Given the description of an element on the screen output the (x, y) to click on. 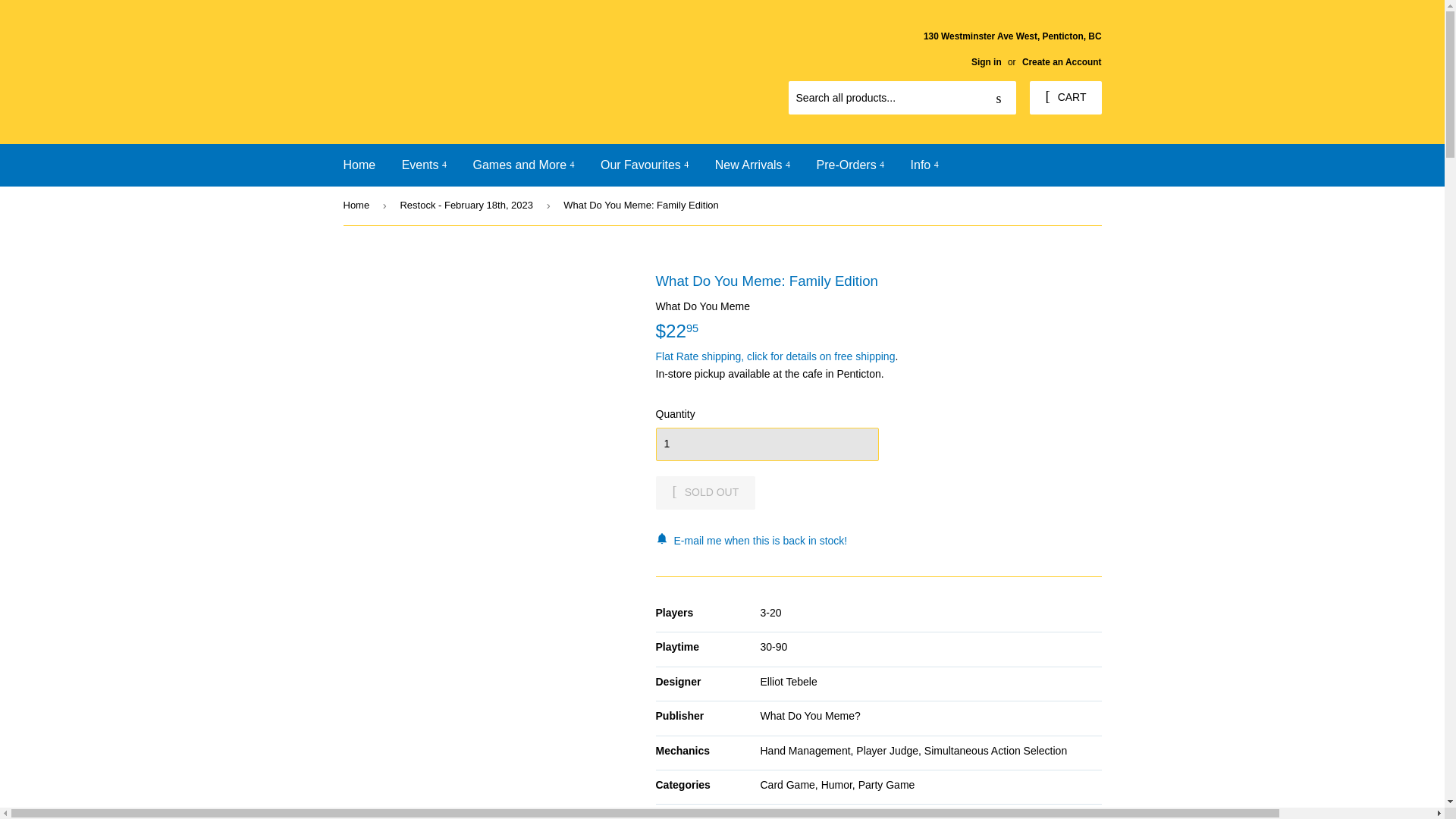
Search (998, 98)
Sign in (986, 61)
1 (766, 444)
Create an Account (1062, 61)
CART (1064, 97)
130 Westminster Ave West, Penticton, BC (1012, 48)
Add Notification (877, 540)
